Given the description of an element on the screen output the (x, y) to click on. 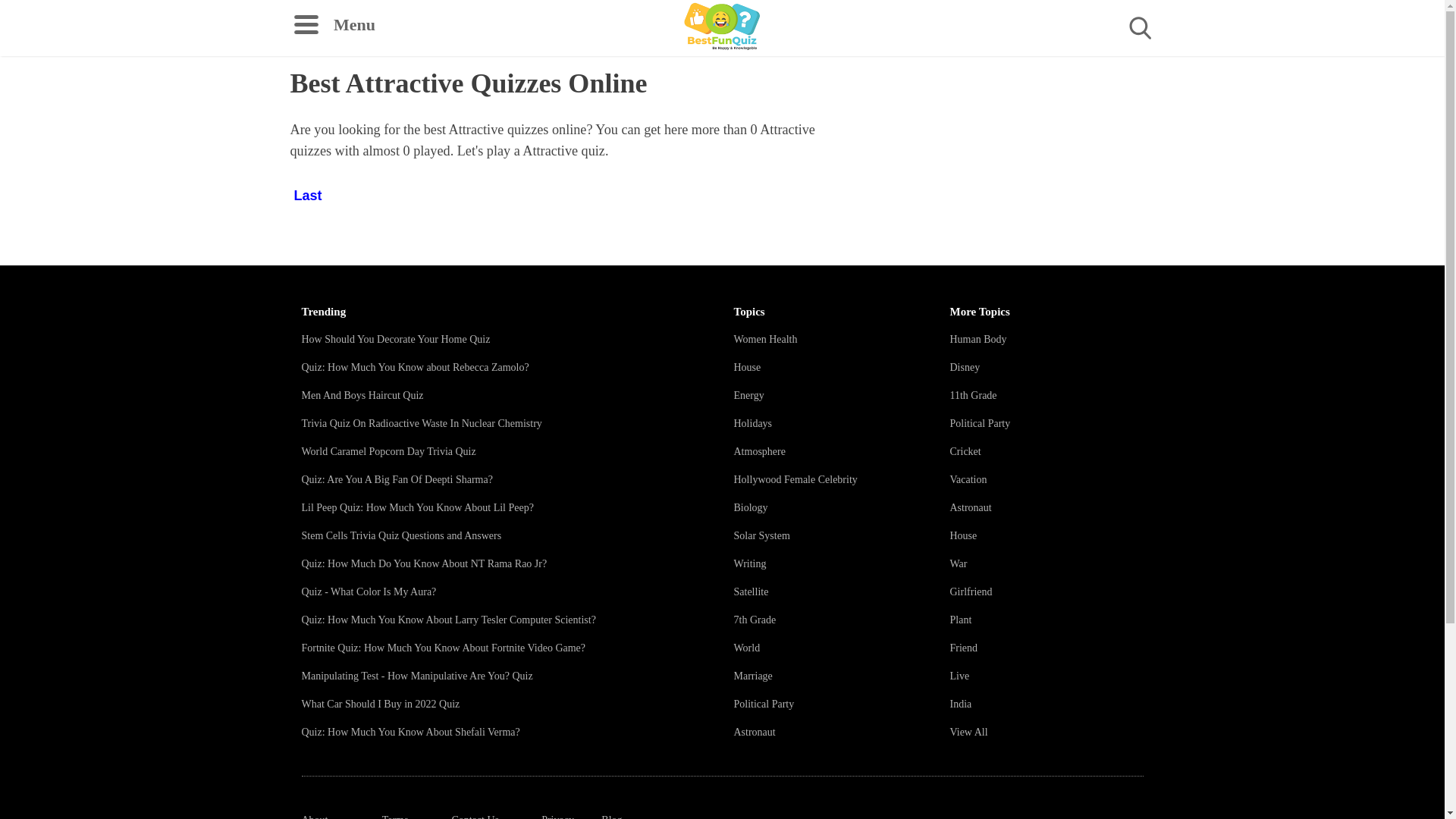
Last (306, 189)
World Caramel Popcorn Day Trivia Quiz (388, 451)
Trivia Quiz On Radioactive Waste In Nuclear Chemistry (421, 423)
How Should You Decorate Your Home Quiz (395, 338)
Contact Us (475, 816)
Lil Peep Quiz: How Much You Know About Lil Peep? (417, 507)
Blog (611, 816)
Privacy (557, 816)
Advertisement (1304, 166)
Terms (395, 816)
Advertisement (1304, 378)
Quiz: How Much You Know about Rebecca Zamolo? (415, 367)
About (315, 816)
Men And Boys Haircut Quiz (362, 395)
